Given the description of an element on the screen output the (x, y) to click on. 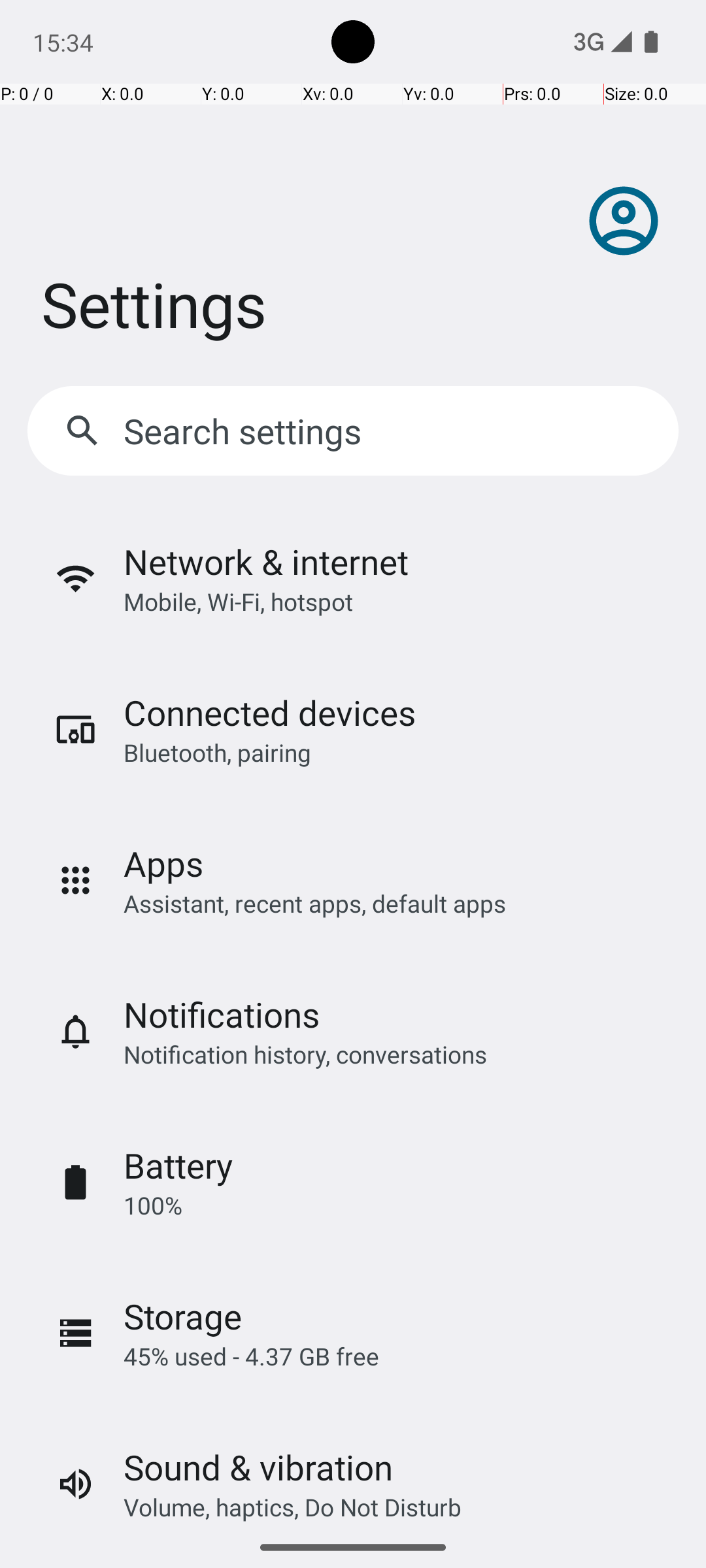
45% used - 4.37 GB free Element type: android.widget.TextView (251, 1355)
